Given the description of an element on the screen output the (x, y) to click on. 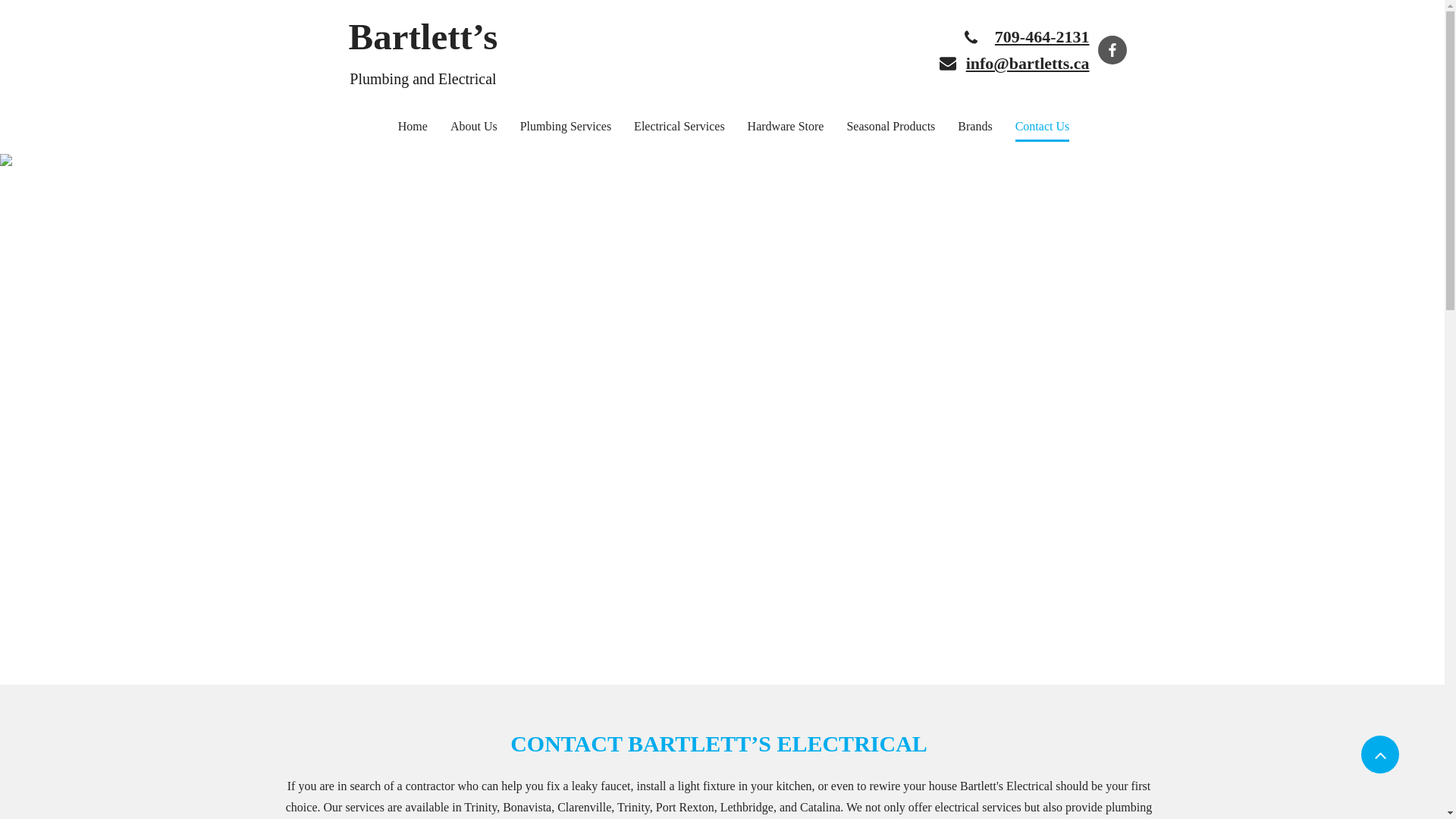
About Us Element type: text (473, 127)
Home Element type: text (412, 127)
709-464-2131 Element type: text (1041, 39)
Contact Us Element type: text (1042, 127)
Brands Element type: text (974, 127)
Hardware Store Element type: text (785, 127)
Plumbing Services Element type: text (565, 127)
info@bartletts.ca Element type: text (1027, 66)
Seasonal Products Element type: text (890, 127)
Electrical Services Element type: text (678, 127)
